Given the description of an element on the screen output the (x, y) to click on. 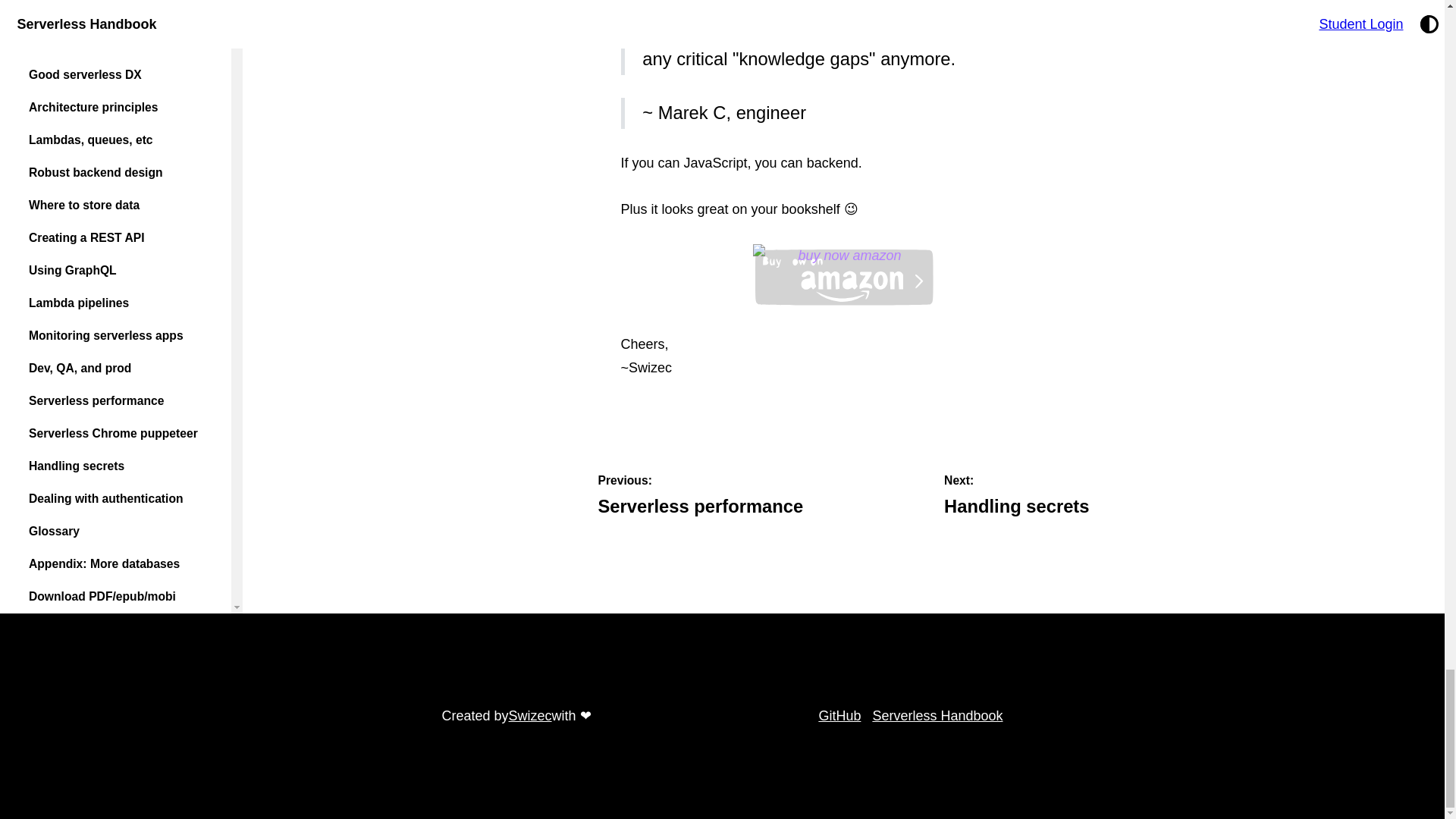
Swizec (529, 715)
GitHub (699, 496)
buy now amazon (1016, 496)
Serverless Handbook (839, 716)
